Given the description of an element on the screen output the (x, y) to click on. 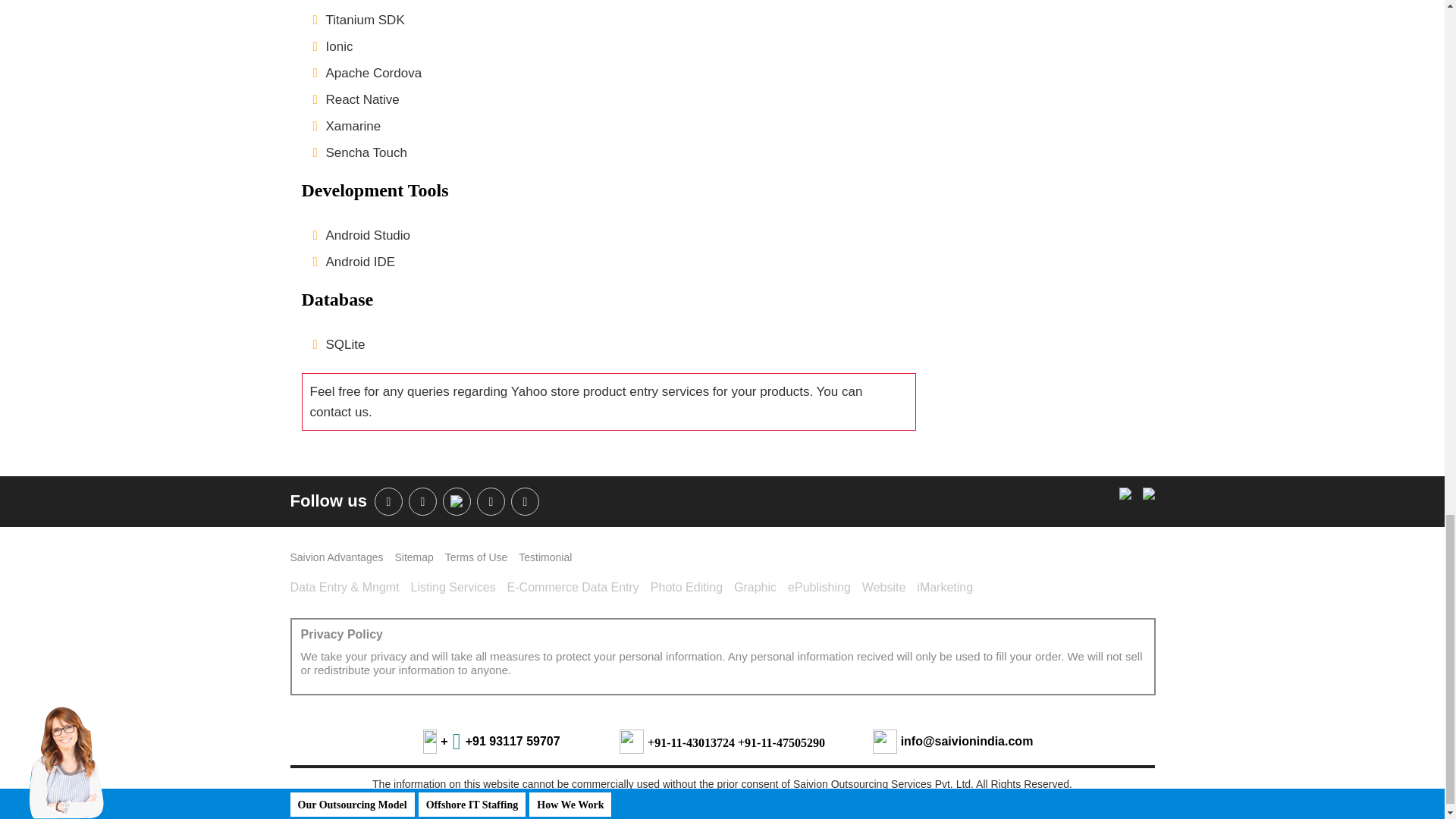
Twitter (491, 501)
Linkedin (422, 501)
Twitter (524, 501)
Twitter (456, 501)
Facebook (388, 501)
